Given the description of an element on the screen output the (x, y) to click on. 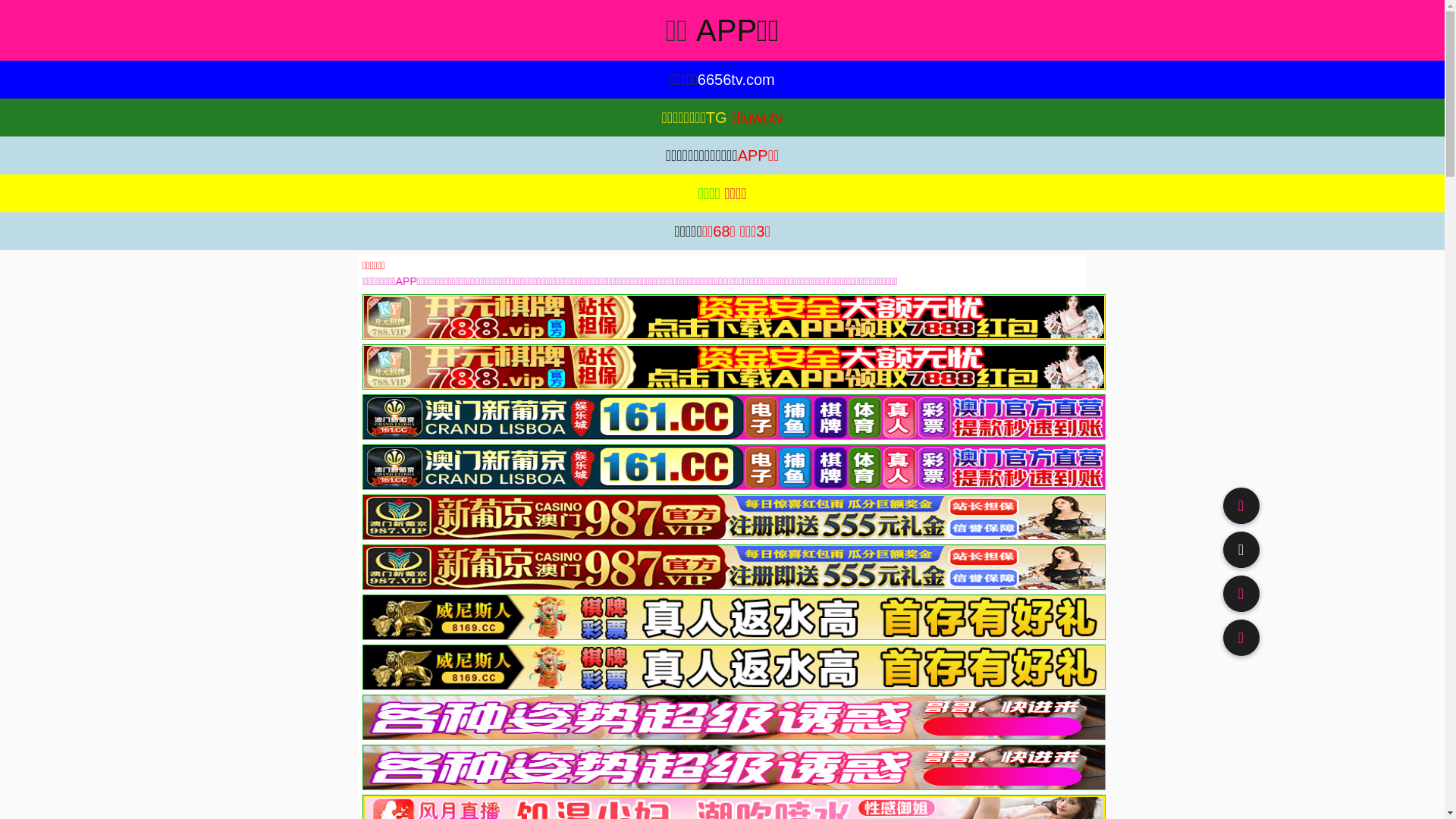
91TV Element type: hover (1240, 593)
